Given the description of an element on the screen output the (x, y) to click on. 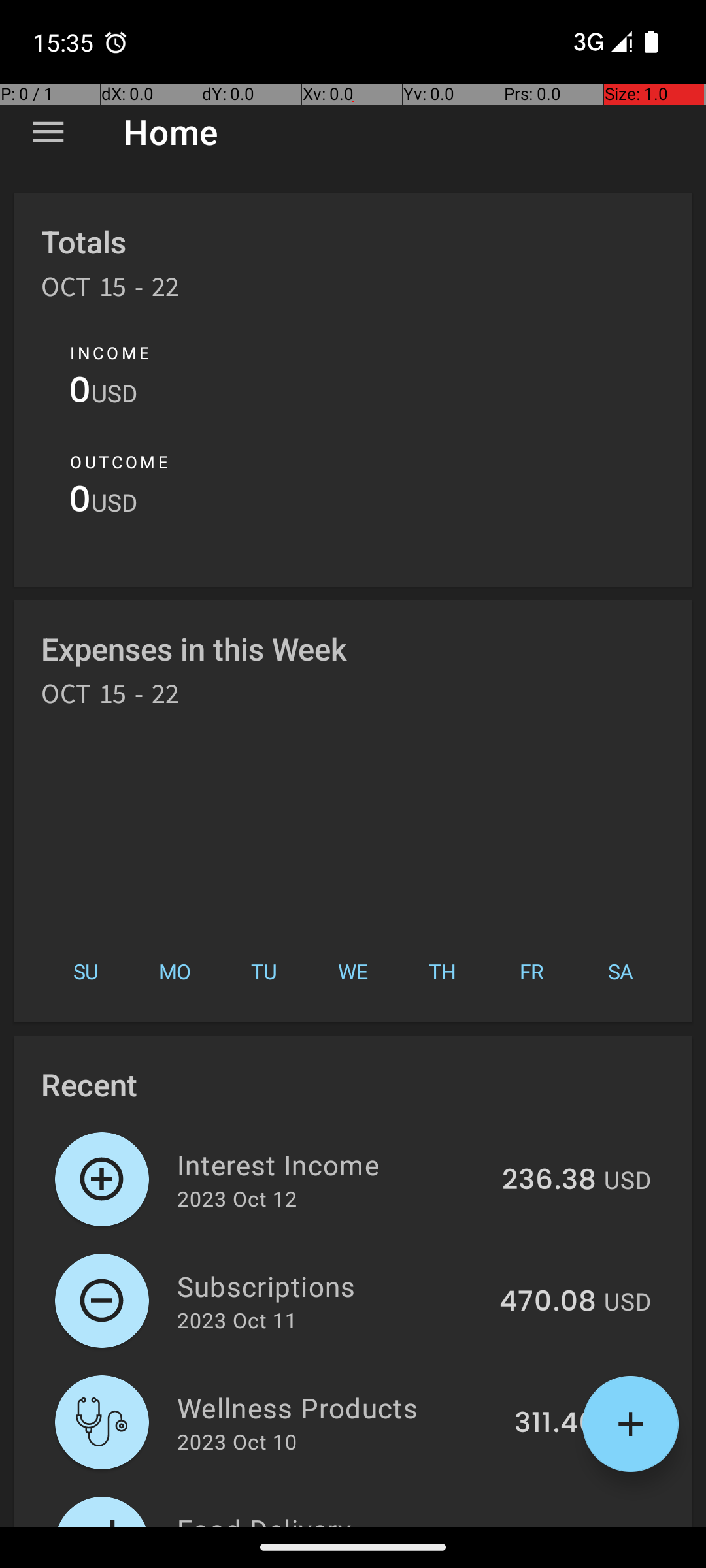
Interest Income Element type: android.widget.TextView (331, 1164)
236.38 Element type: android.widget.TextView (548, 1180)
470.08 Element type: android.widget.TextView (547, 1301)
311.46 Element type: android.widget.TextView (554, 1423)
Food Delivery Element type: android.widget.TextView (334, 1518)
298.51 Element type: android.widget.TextView (551, 1524)
